Given the description of an element on the screen output the (x, y) to click on. 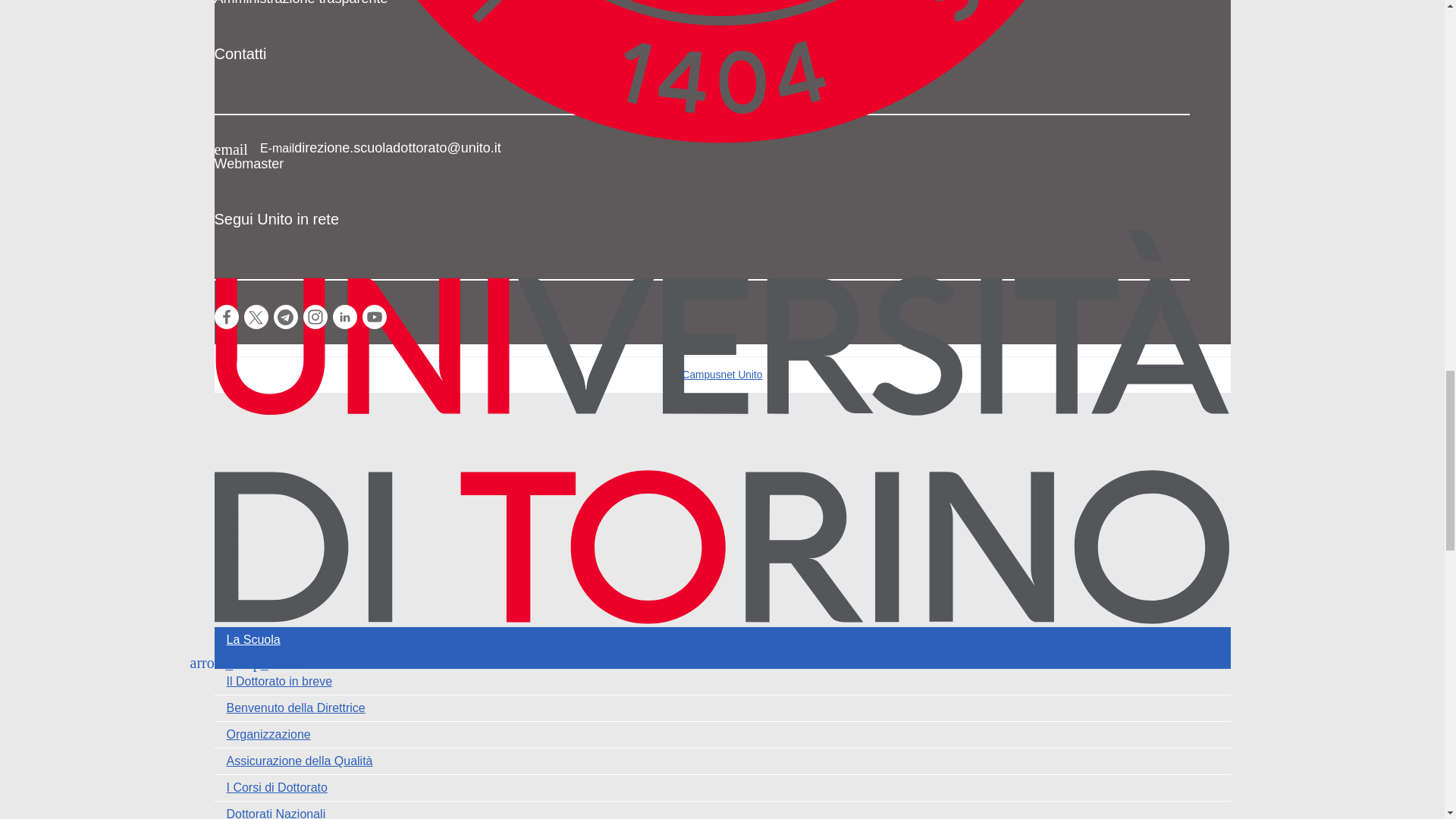
Dottorati Nazionali (722, 810)
Il Dottorato in breve (722, 681)
La Scuola (722, 639)
I Corsi di Dottorato (722, 787)
Organizzazione (722, 734)
Benvenuto della Direttrice (722, 708)
